Given the description of an element on the screen output the (x, y) to click on. 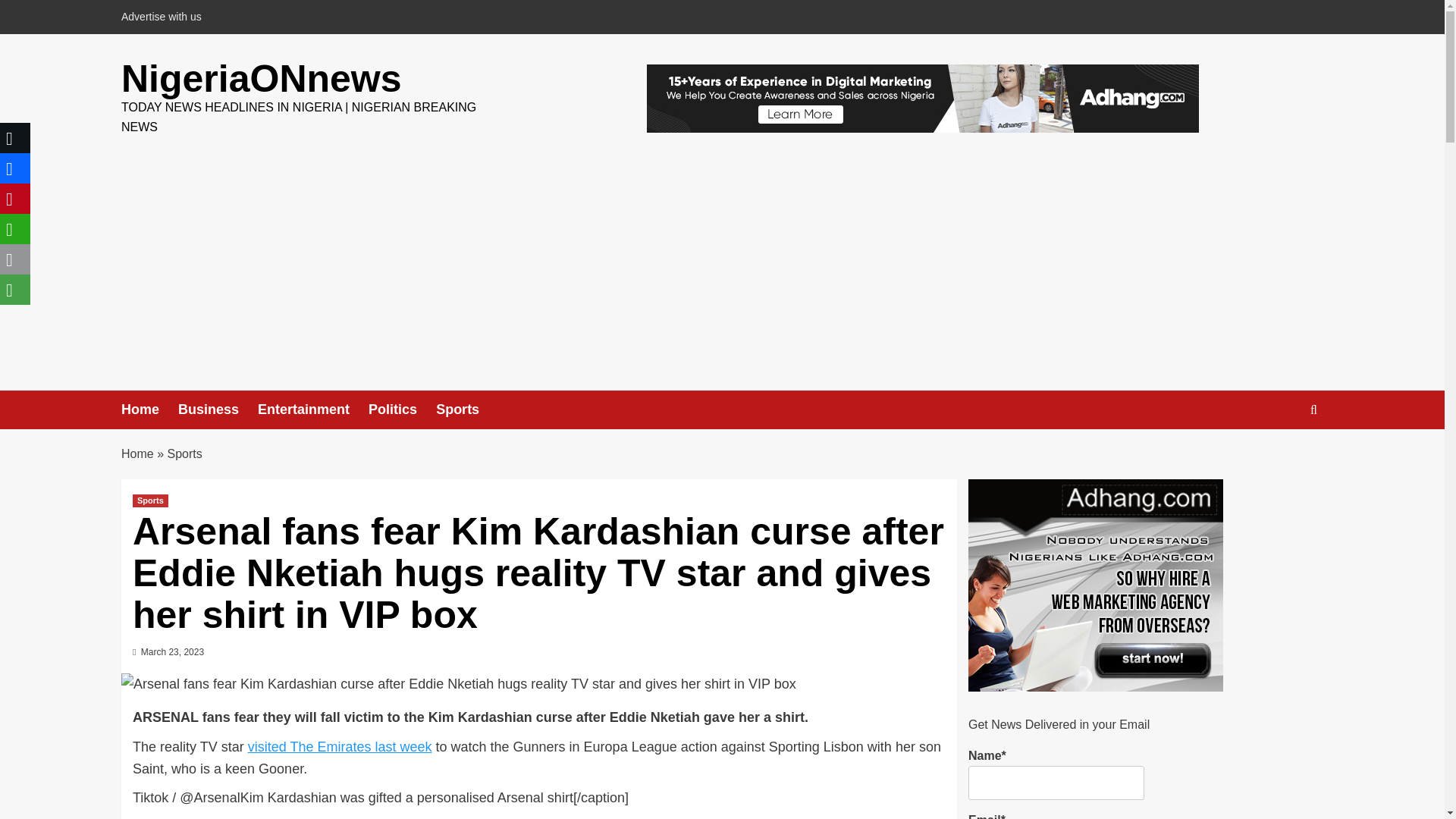
visited The Emirates last week (339, 746)
NigeriaONnews (260, 78)
Home (137, 453)
Home (148, 409)
Sports (184, 453)
Entertainment (312, 409)
Sports (150, 500)
Sports (466, 409)
Business (217, 409)
Politics (401, 409)
March 23, 2023 (172, 652)
Advertise with us (164, 17)
Search (1278, 456)
